Given the description of an element on the screen output the (x, y) to click on. 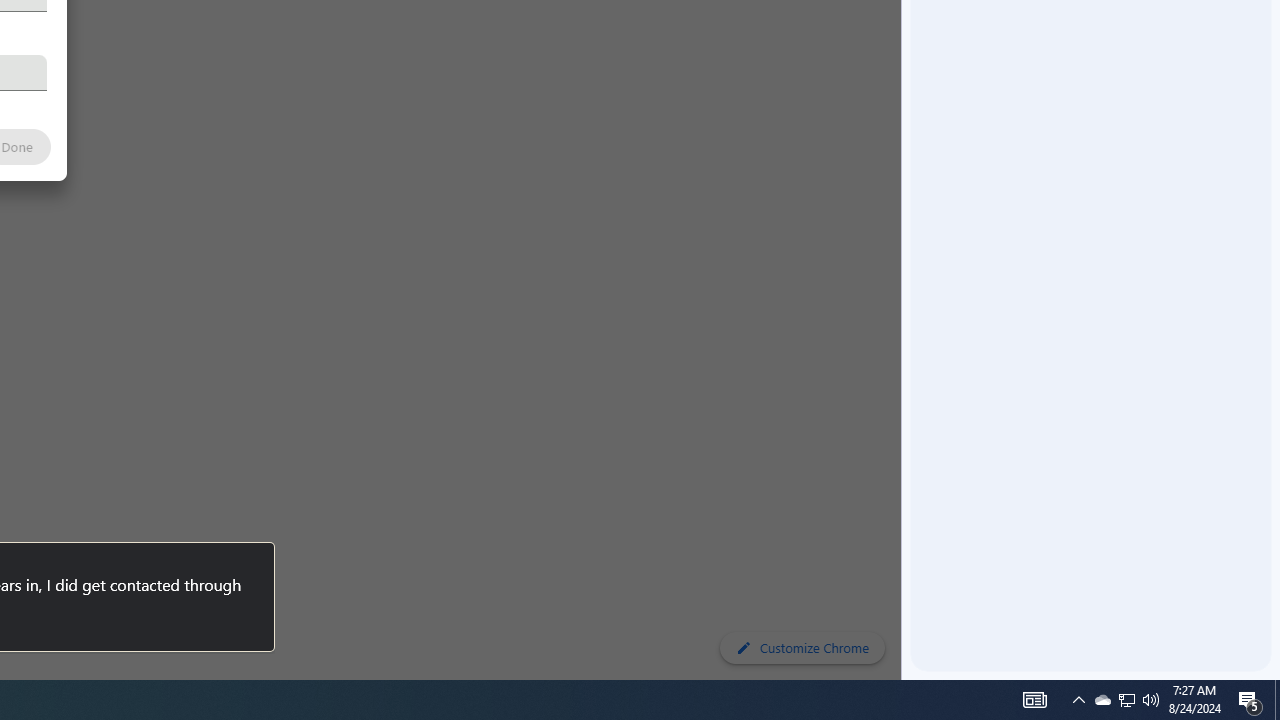
Side Panel Resize Handle (905, 39)
